Given the description of an element on the screen output the (x, y) to click on. 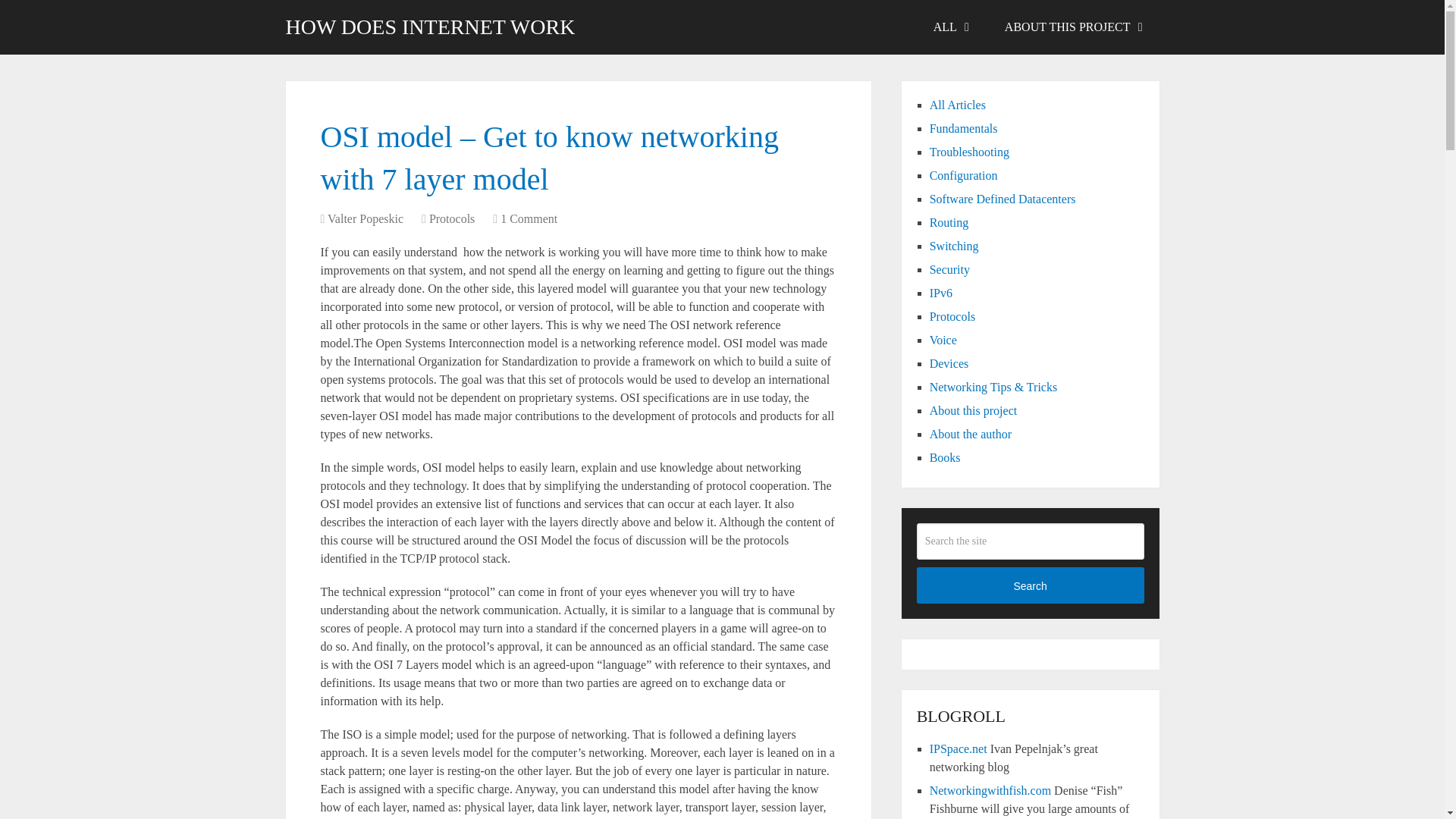
Valter Popeskic (365, 218)
1 Comment (528, 218)
ABOUT THIS PROJECT (1071, 27)
routing (949, 222)
Networking protocols (952, 316)
Protocols (451, 218)
Posts by Valter Popeskic (365, 218)
ALL (949, 27)
HOW DOES INTERNET WORK (430, 26)
View all posts in Protocols (451, 218)
